Given the description of an element on the screen output the (x, y) to click on. 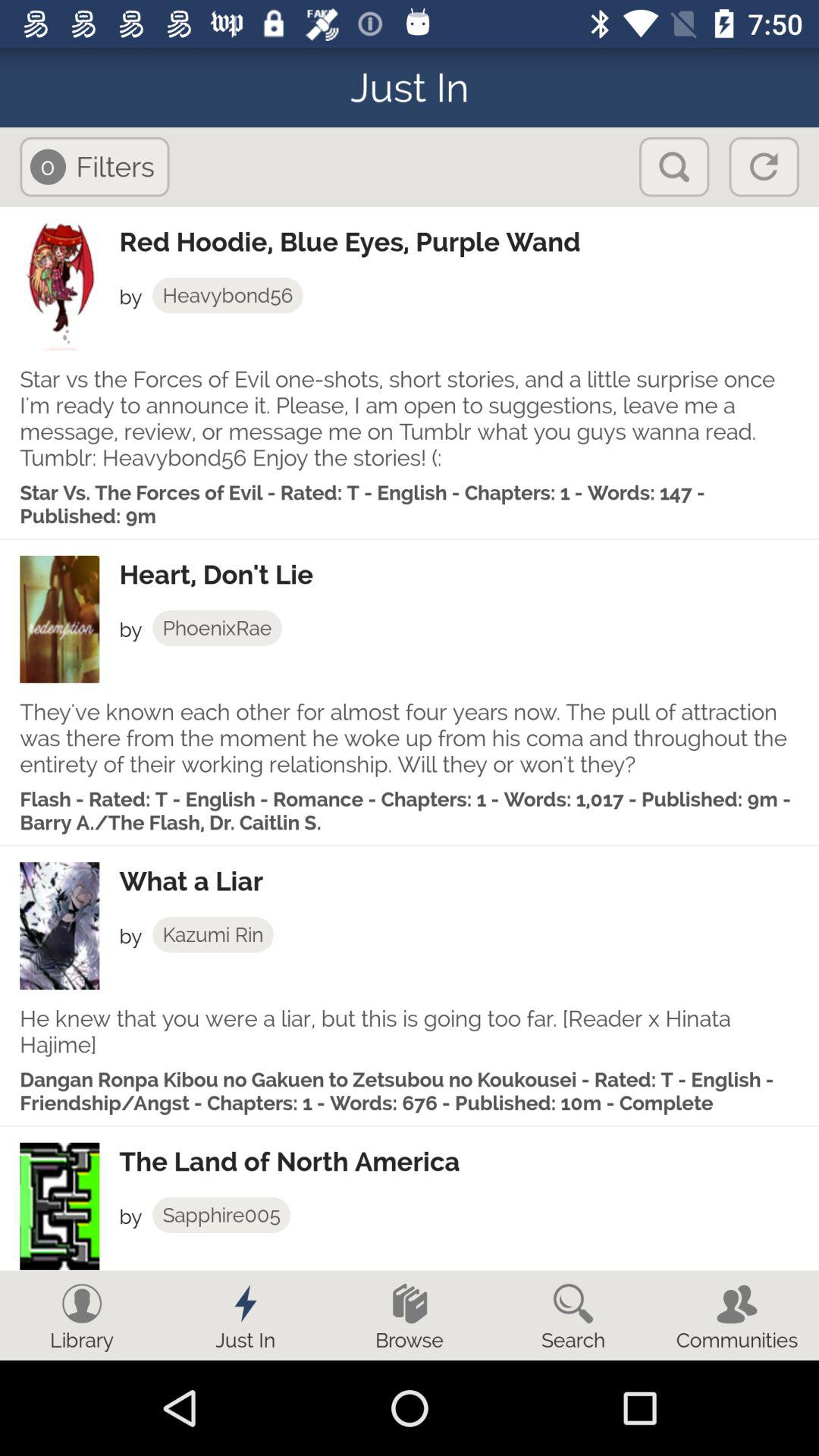
tap app below the the land of (221, 1215)
